Given the description of an element on the screen output the (x, y) to click on. 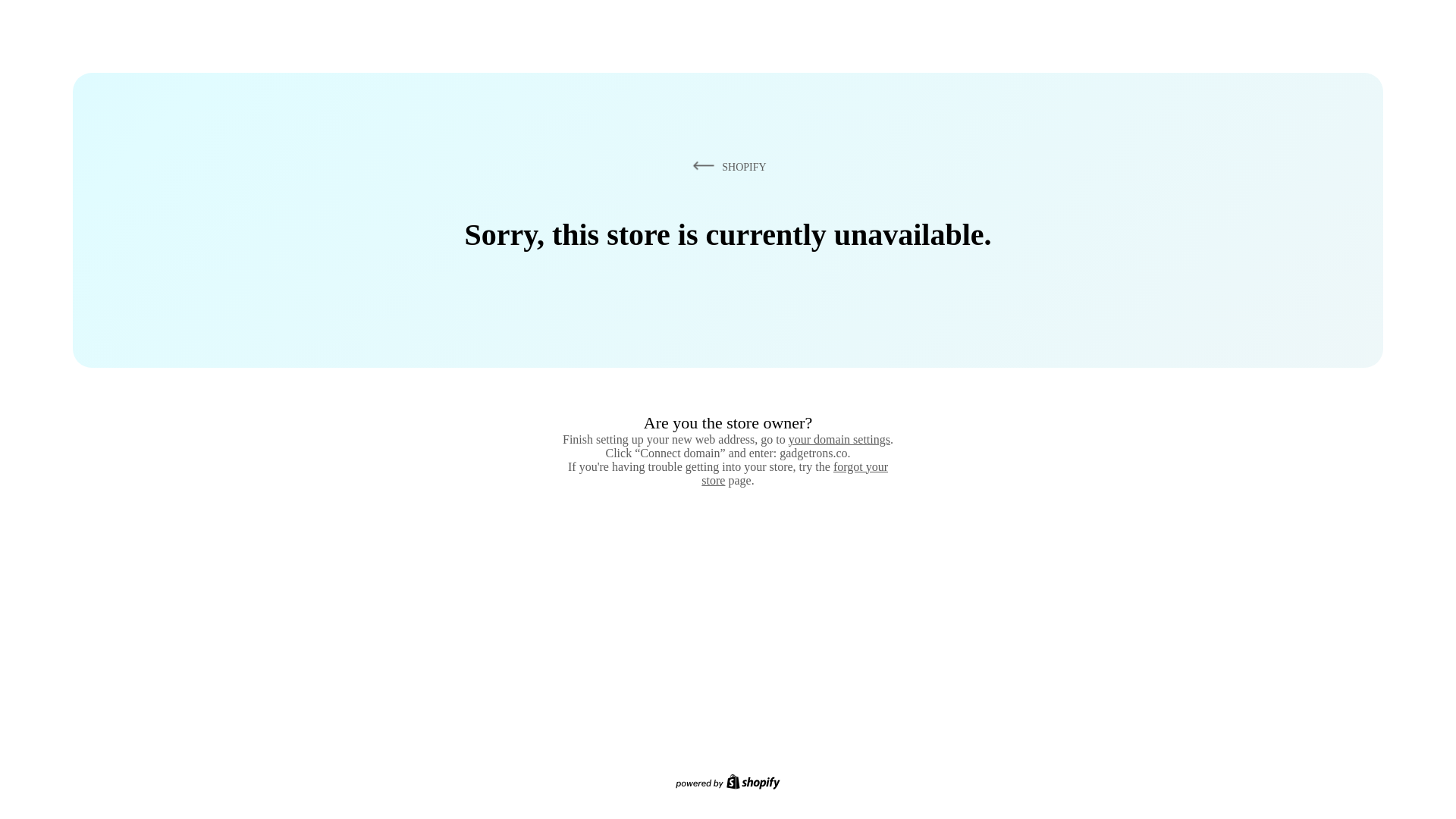
SHOPIFY (726, 166)
your domain settings (839, 439)
forgot your store (794, 473)
